Given the description of an element on the screen output the (x, y) to click on. 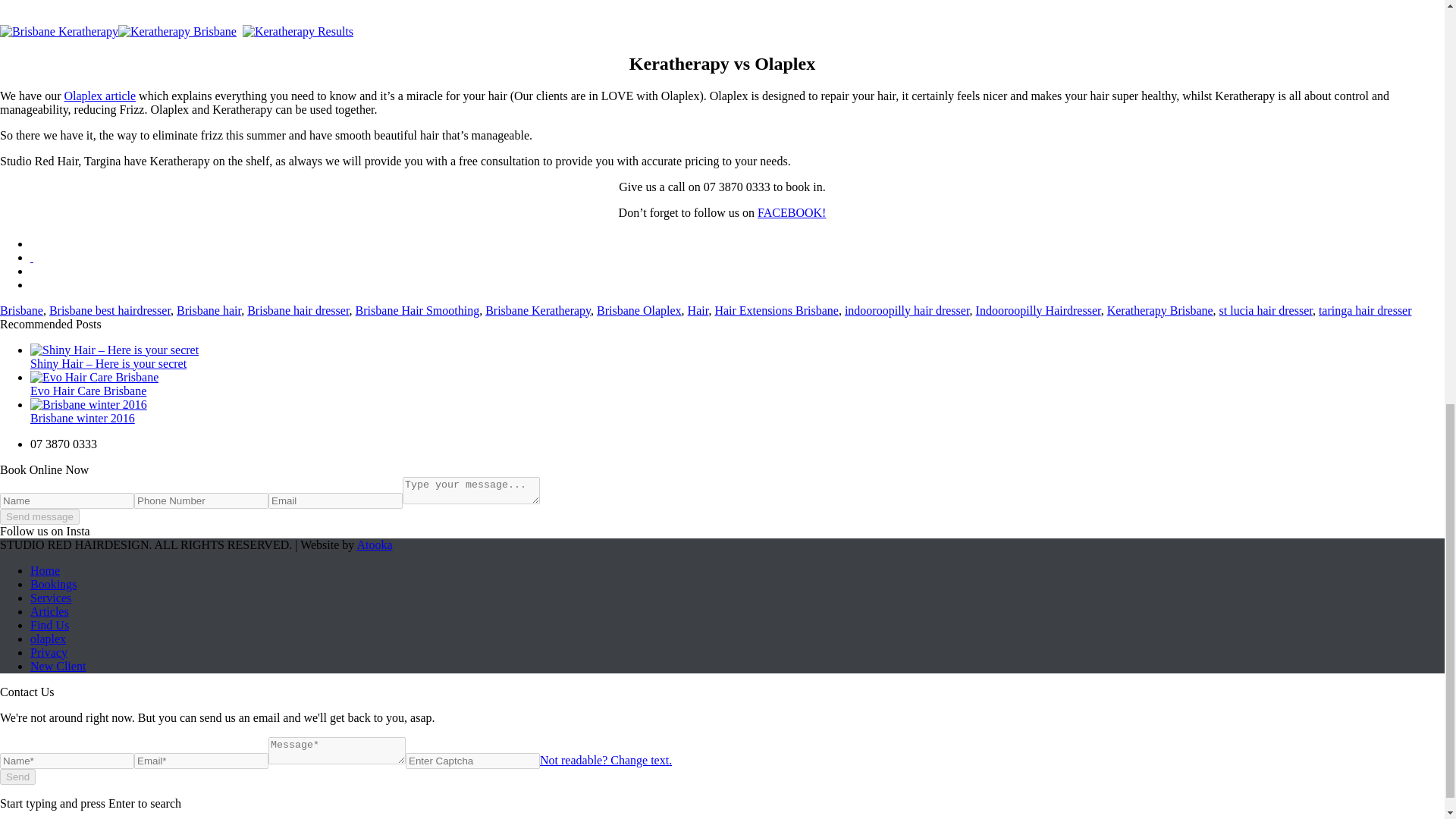
Olaplex article (99, 95)
Brisbane (21, 309)
Brisbane hair dresser (298, 309)
Brisbane best hairdresser (109, 309)
Brisbane hair (208, 309)
FACEBOOK! (791, 212)
